Given the description of an element on the screen output the (x, y) to click on. 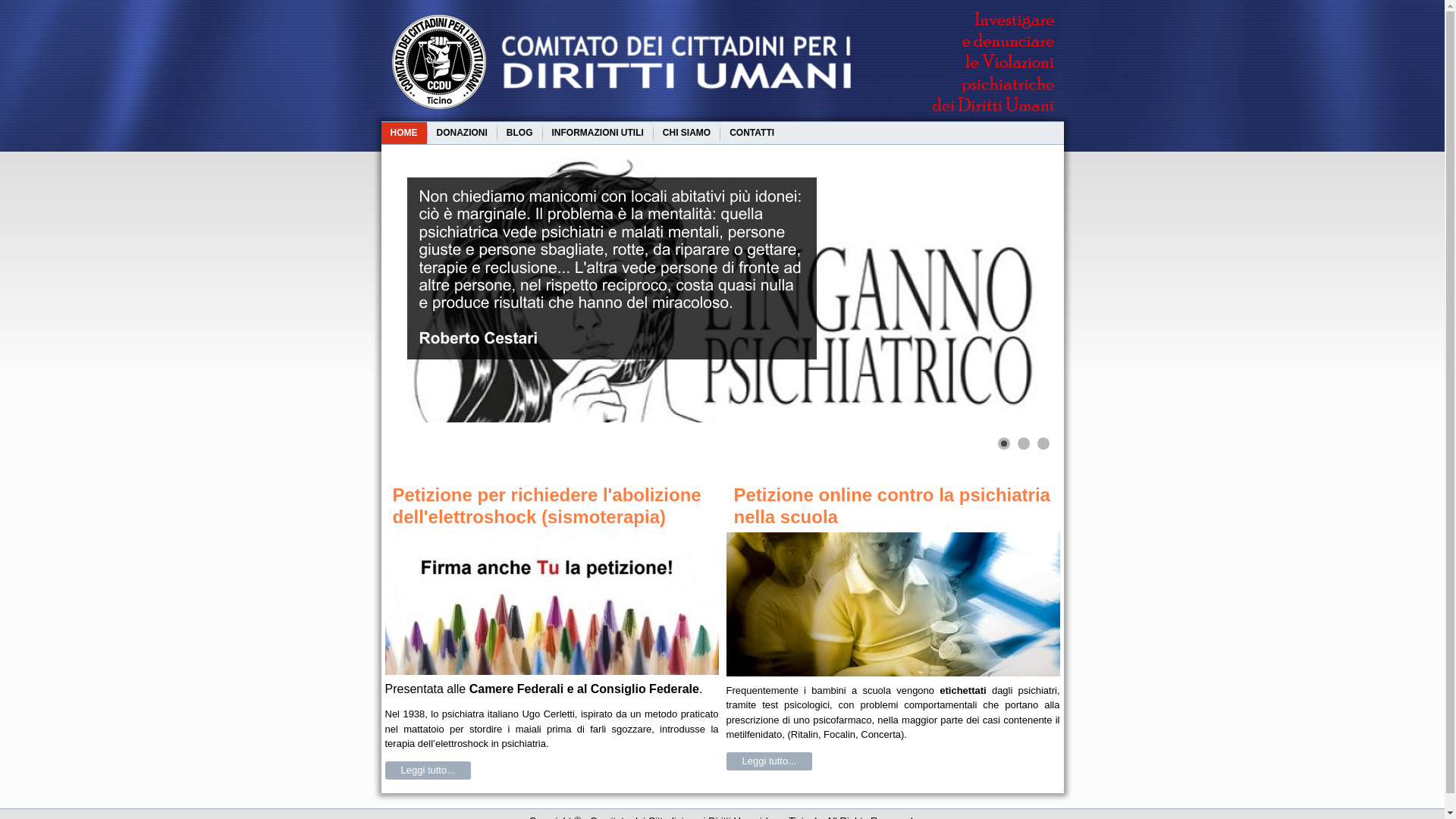
Leggi tutto... Element type: text (428, 770)
CONTATTI Element type: text (751, 133)
DONAZIONI Element type: text (461, 133)
Leggi tutto... Element type: text (769, 761)
BLOG Element type: text (519, 133)
HOME Element type: text (403, 133)
CHI SIAMO Element type: text (686, 133)
INFORMAZIONI UTILI Element type: text (597, 133)
Petizione online contro la psichiatria nella scuola Element type: text (892, 505)
